Given the description of an element on the screen output the (x, y) to click on. 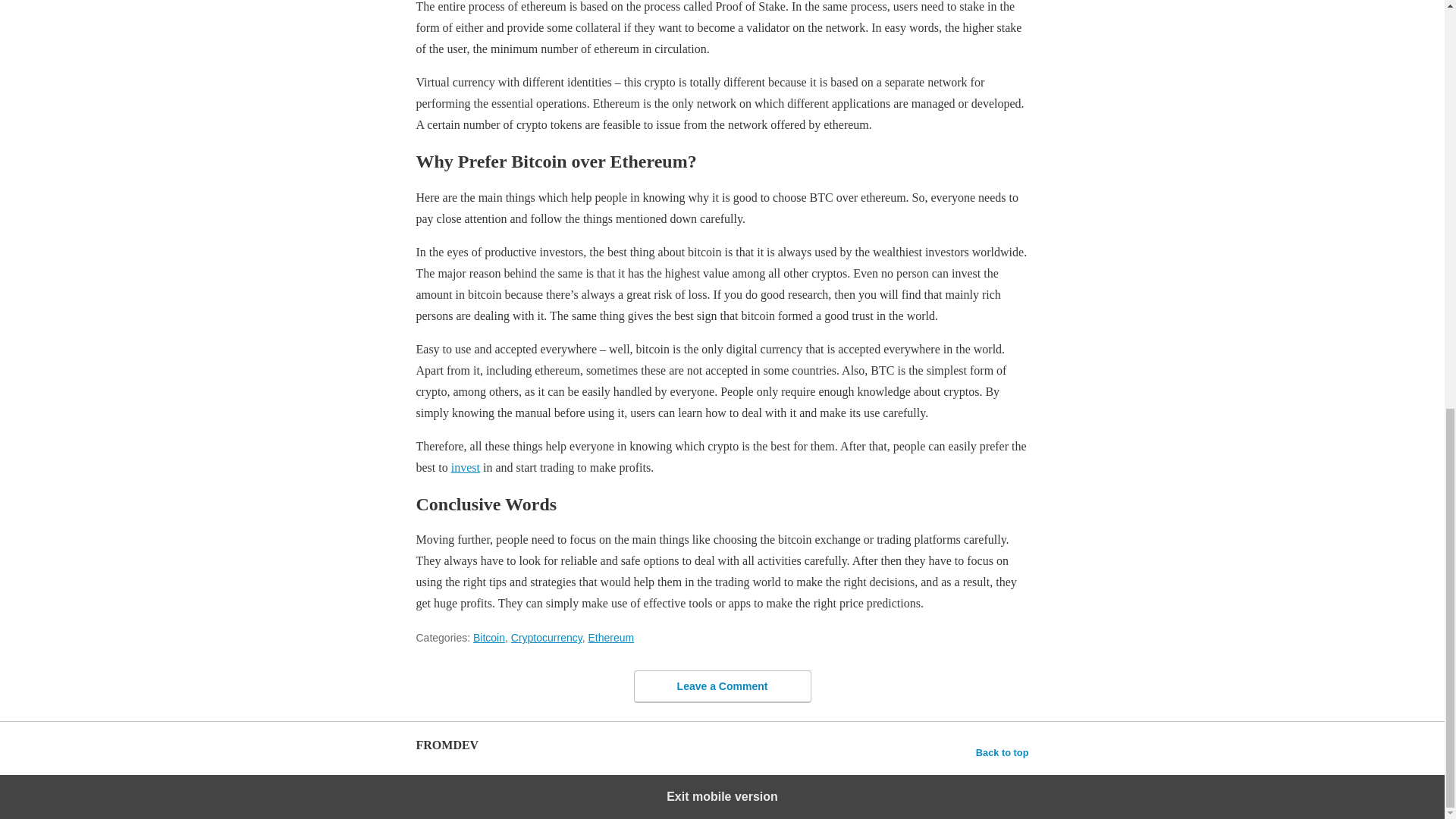
Back to top (1002, 752)
Ethereum (610, 637)
Bitcoin (489, 637)
Cryptocurrency (546, 637)
Leave a Comment (721, 686)
invest (465, 467)
